Given the description of an element on the screen output the (x, y) to click on. 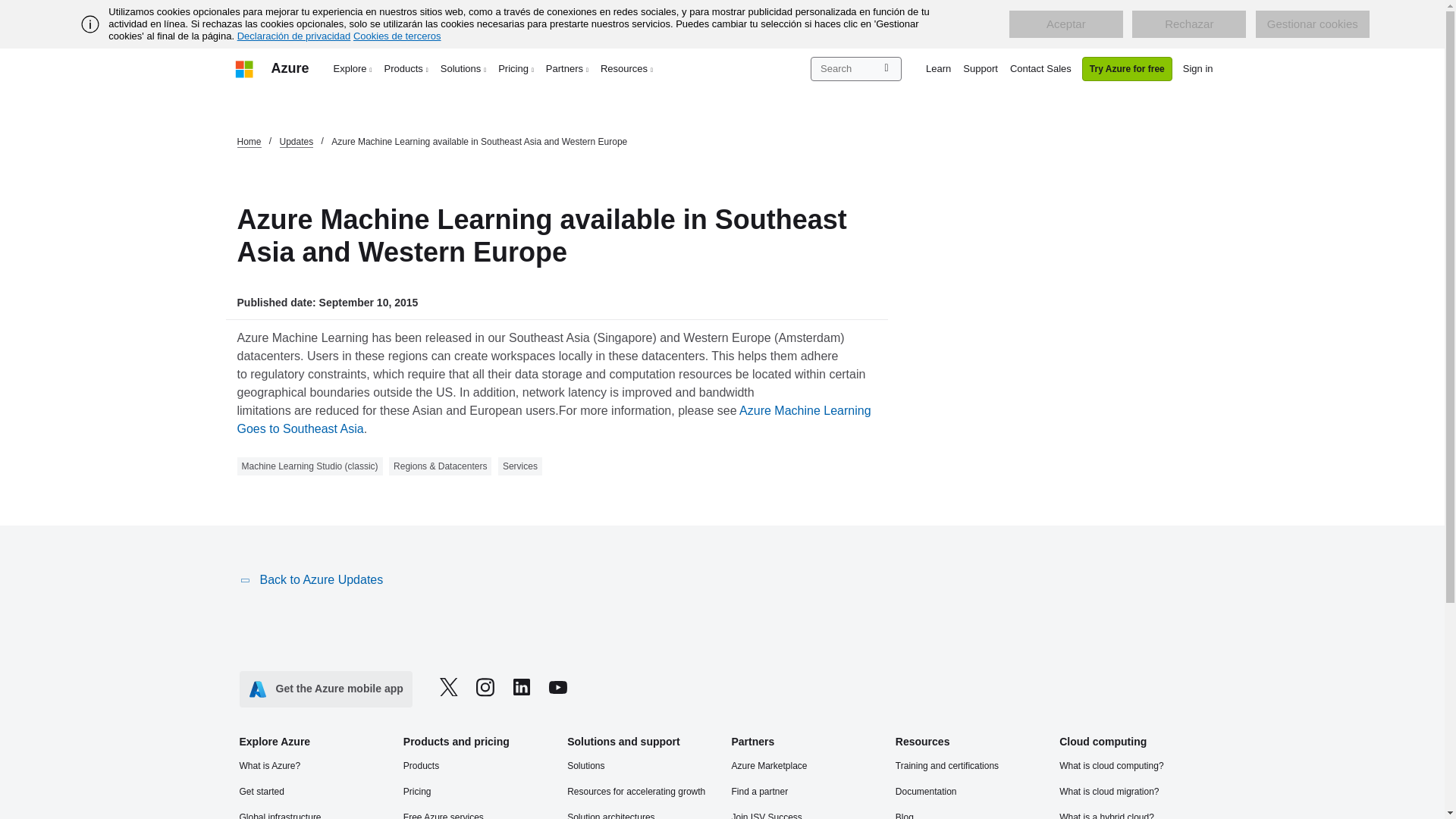
Azure (289, 68)
Skip to main content (7, 7)
Cookies de terceros (397, 35)
Rechazar (1189, 23)
Aceptar (1065, 23)
Products (405, 68)
Explore (352, 68)
Gestionar cookies (1312, 23)
